Given the description of an element on the screen output the (x, y) to click on. 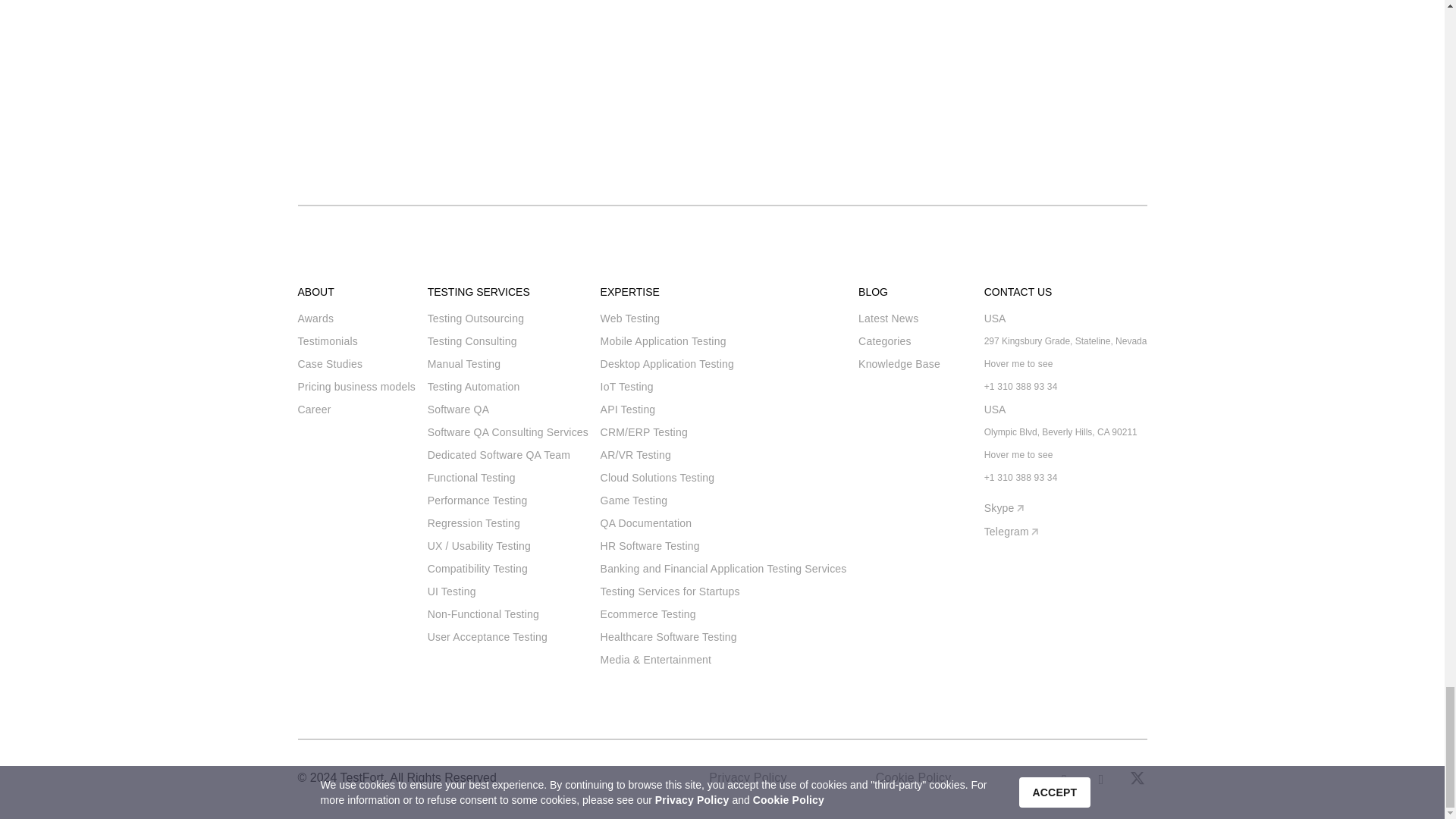
Twitter (1137, 779)
Facebook (1064, 779)
LinkedIn (1100, 779)
